Given the description of an element on the screen output the (x, y) to click on. 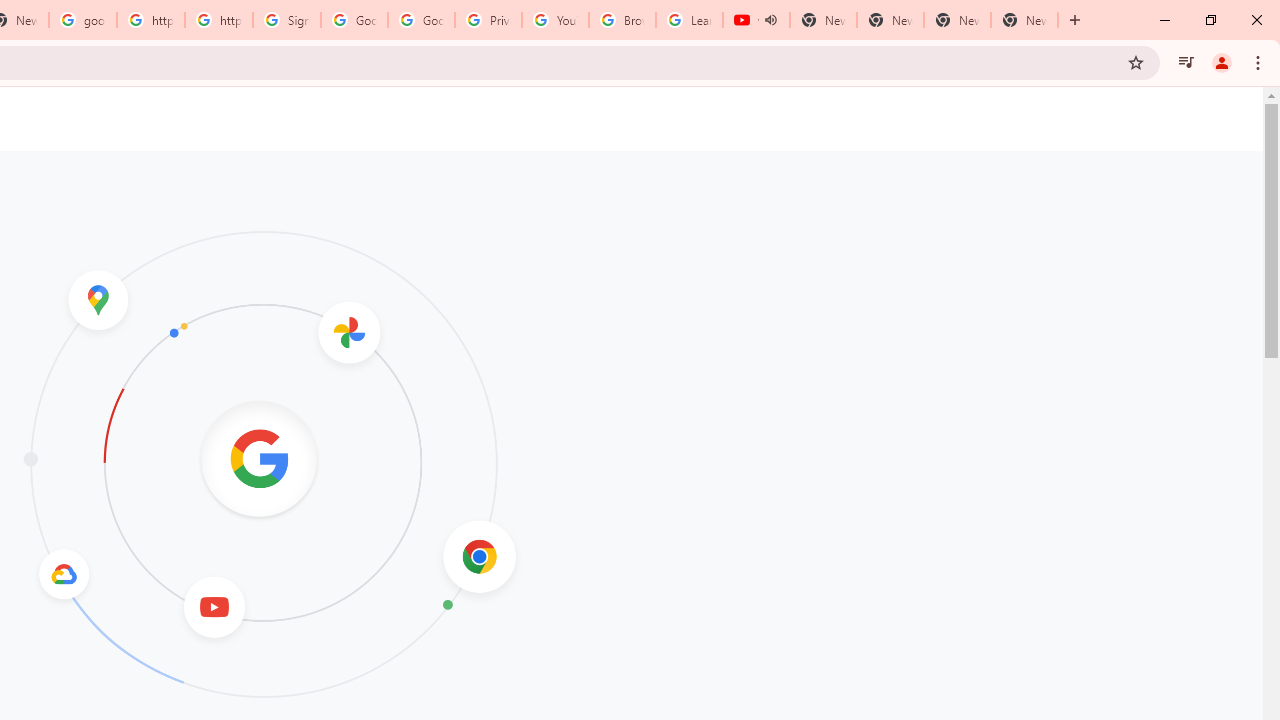
Sign in - Google Accounts (287, 20)
New Tab (1024, 20)
